Given the description of an element on the screen output the (x, y) to click on. 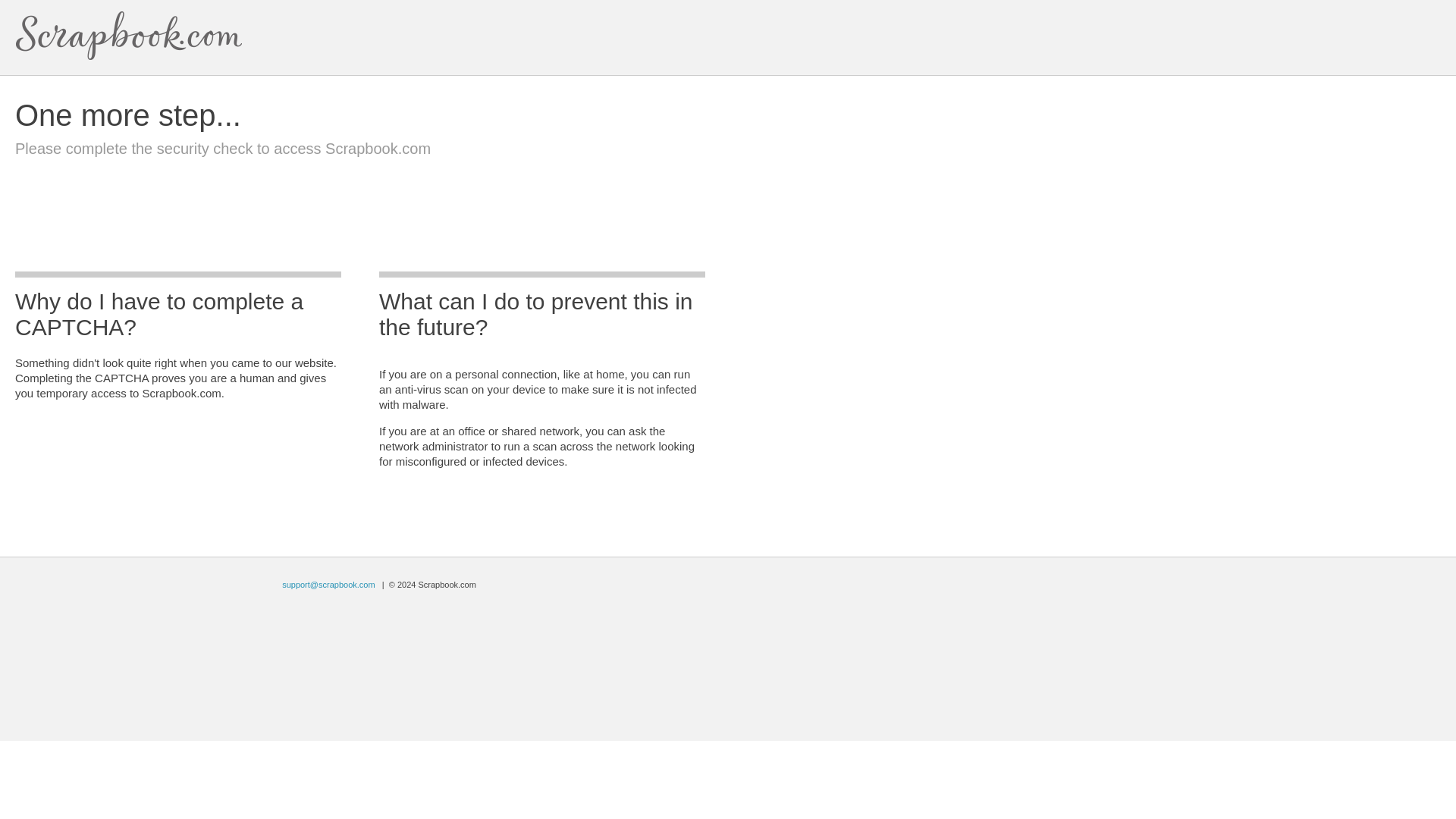
Scrapbook.com (128, 35)
